Given the description of an element on the screen output the (x, y) to click on. 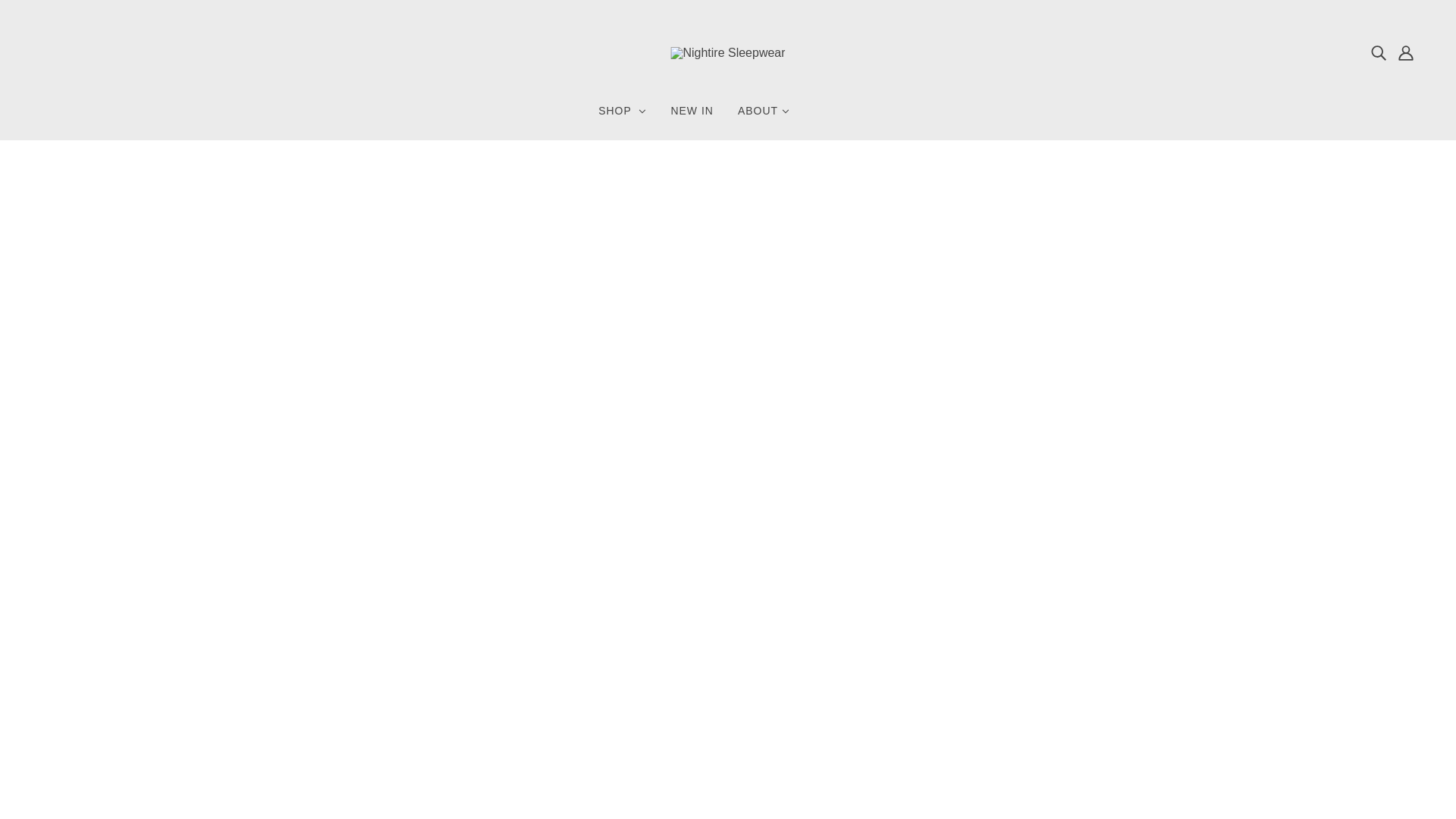
Nightire Sleepwear (726, 51)
SHOP   (622, 116)
